Given the description of an element on the screen output the (x, y) to click on. 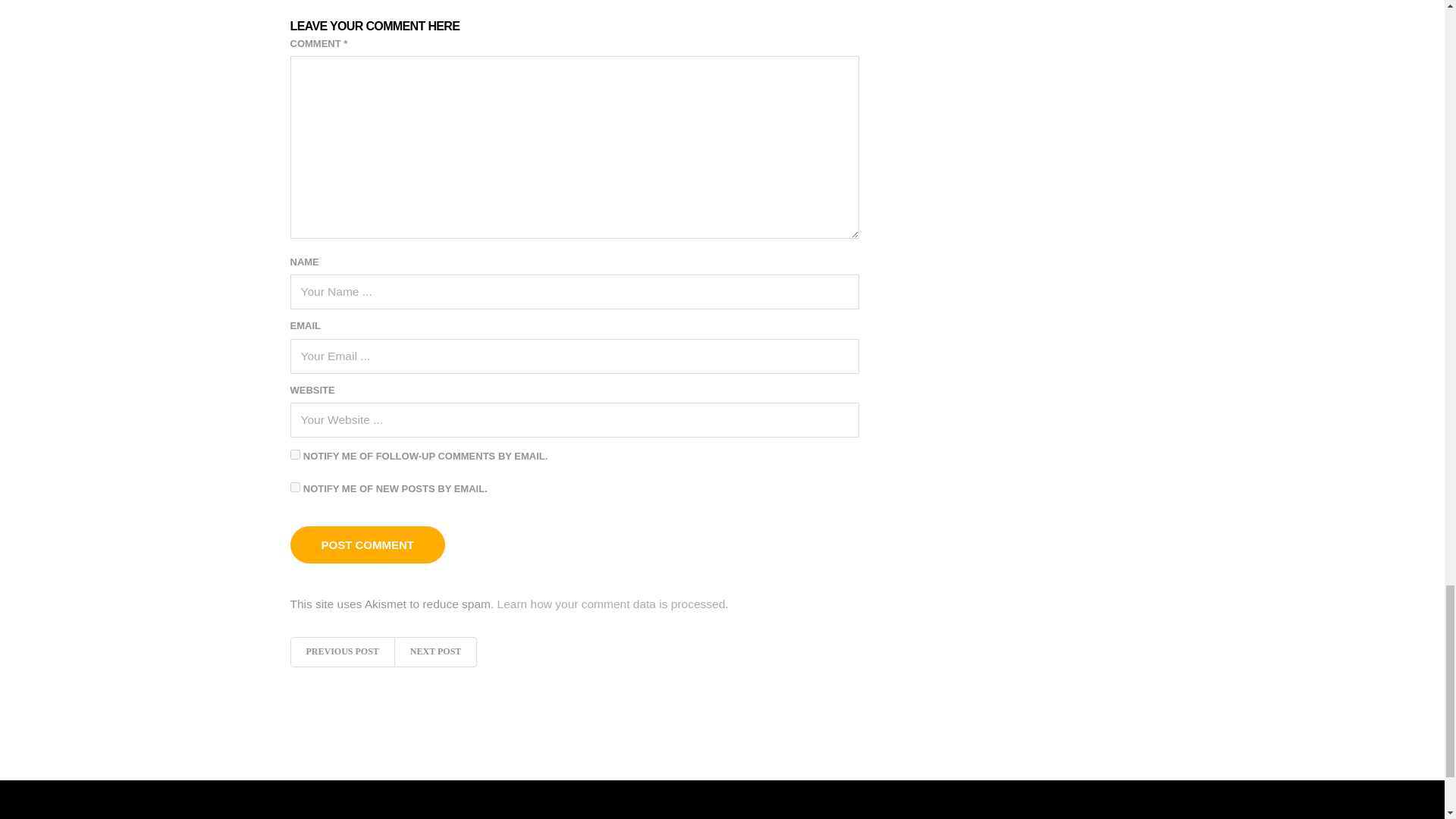
subscribe (294, 454)
Post Comment (367, 544)
subscribe (294, 487)
